Given the description of an element on the screen output the (x, y) to click on. 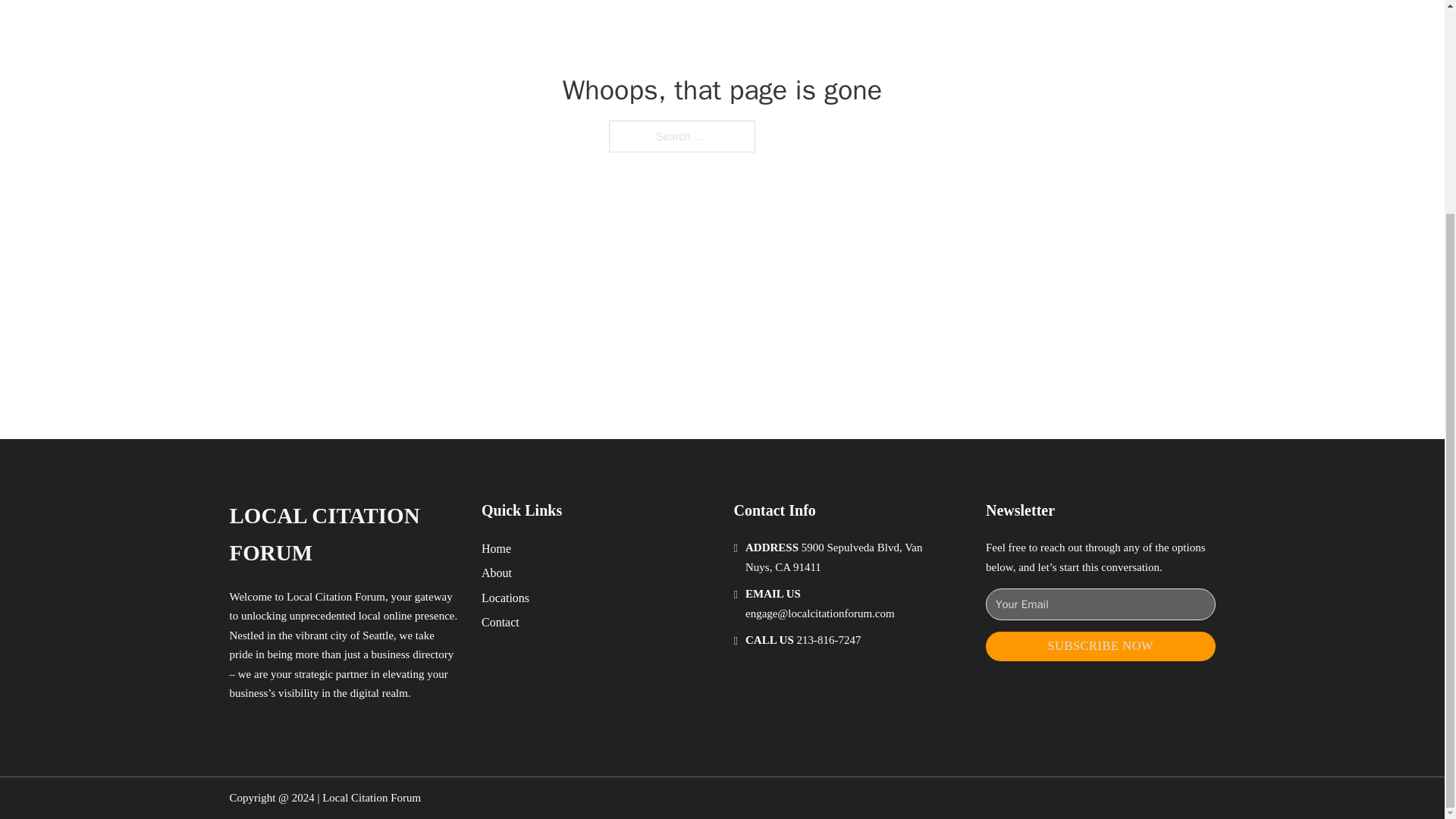
About (496, 572)
SUBSCRIBE NOW (1100, 645)
LOCAL CITATION FORUM (343, 534)
Contact (500, 621)
Home (496, 548)
Locations (505, 598)
